Given the description of an element on the screen output the (x, y) to click on. 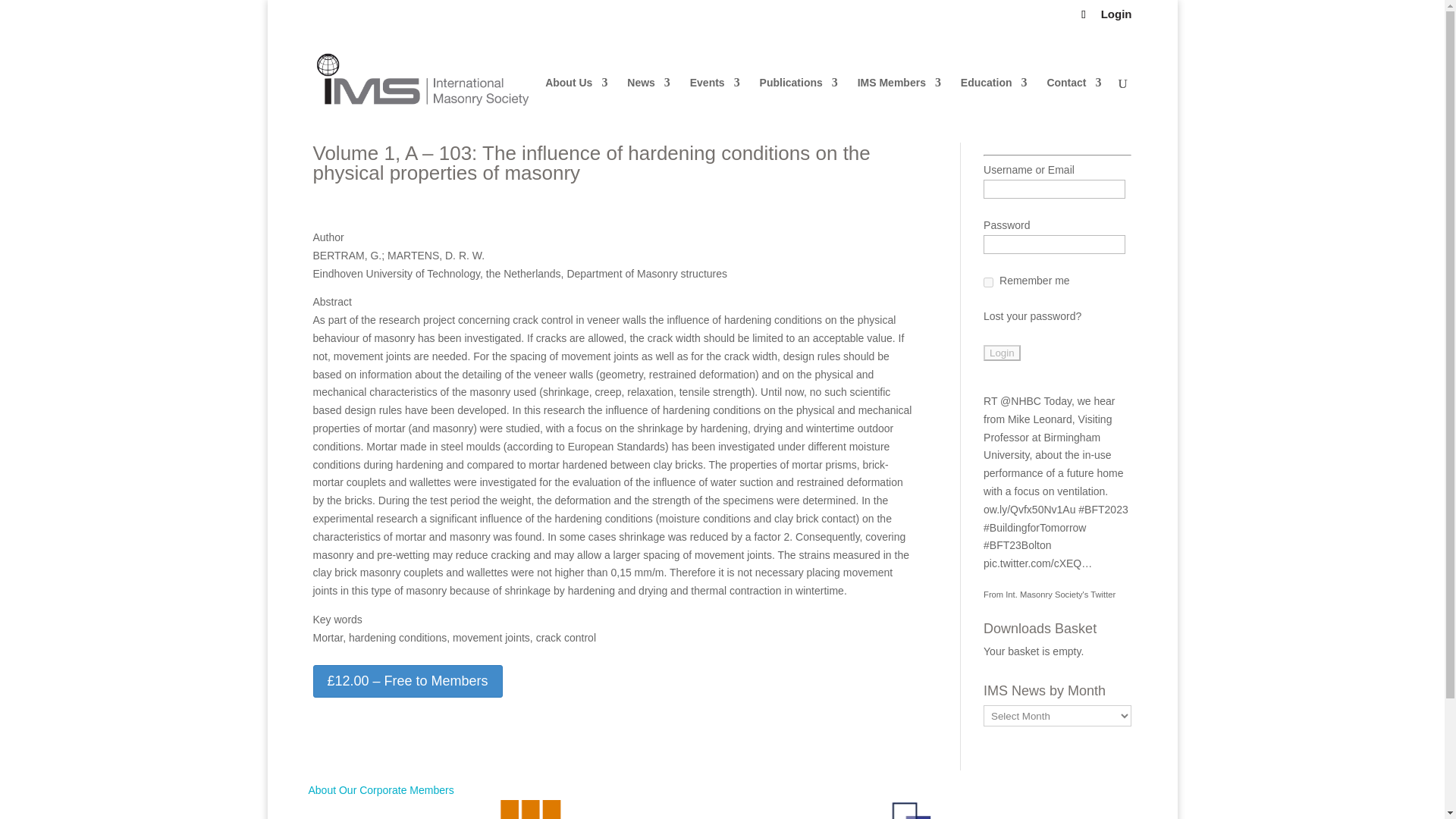
Education (993, 109)
About Us (575, 109)
Int. Masonry Society (1060, 593)
IMS Members (898, 109)
Publications (799, 109)
NHBC (1020, 400)
1 (988, 282)
Login (1002, 352)
Lost your password? (1032, 316)
Login (1002, 352)
